Given the description of an element on the screen output the (x, y) to click on. 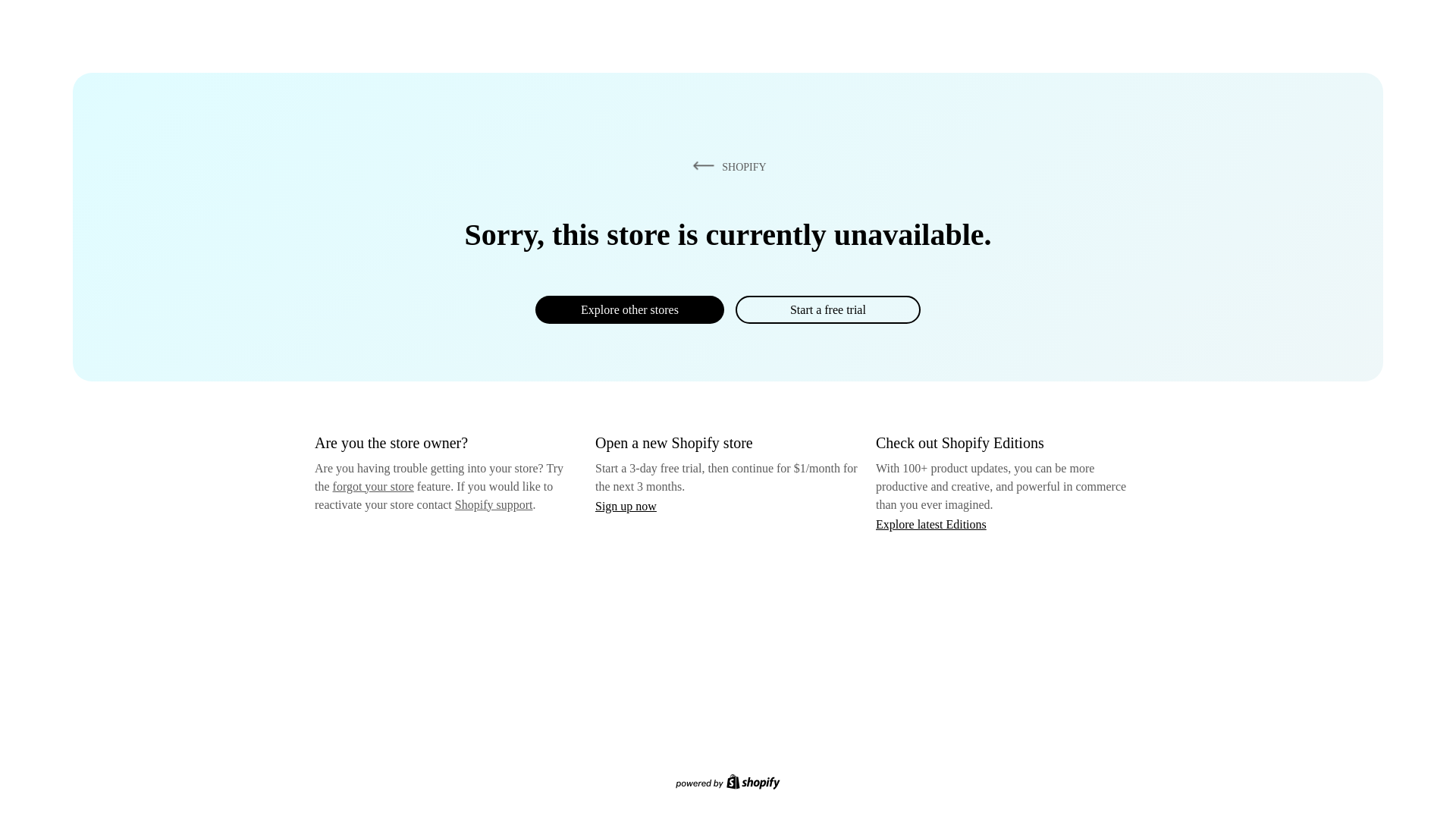
Shopify support (493, 504)
Explore latest Editions (931, 523)
Explore other stores (629, 309)
Sign up now (625, 505)
Start a free trial (827, 309)
SHOPIFY (726, 166)
forgot your store (373, 486)
